Given the description of an element on the screen output the (x, y) to click on. 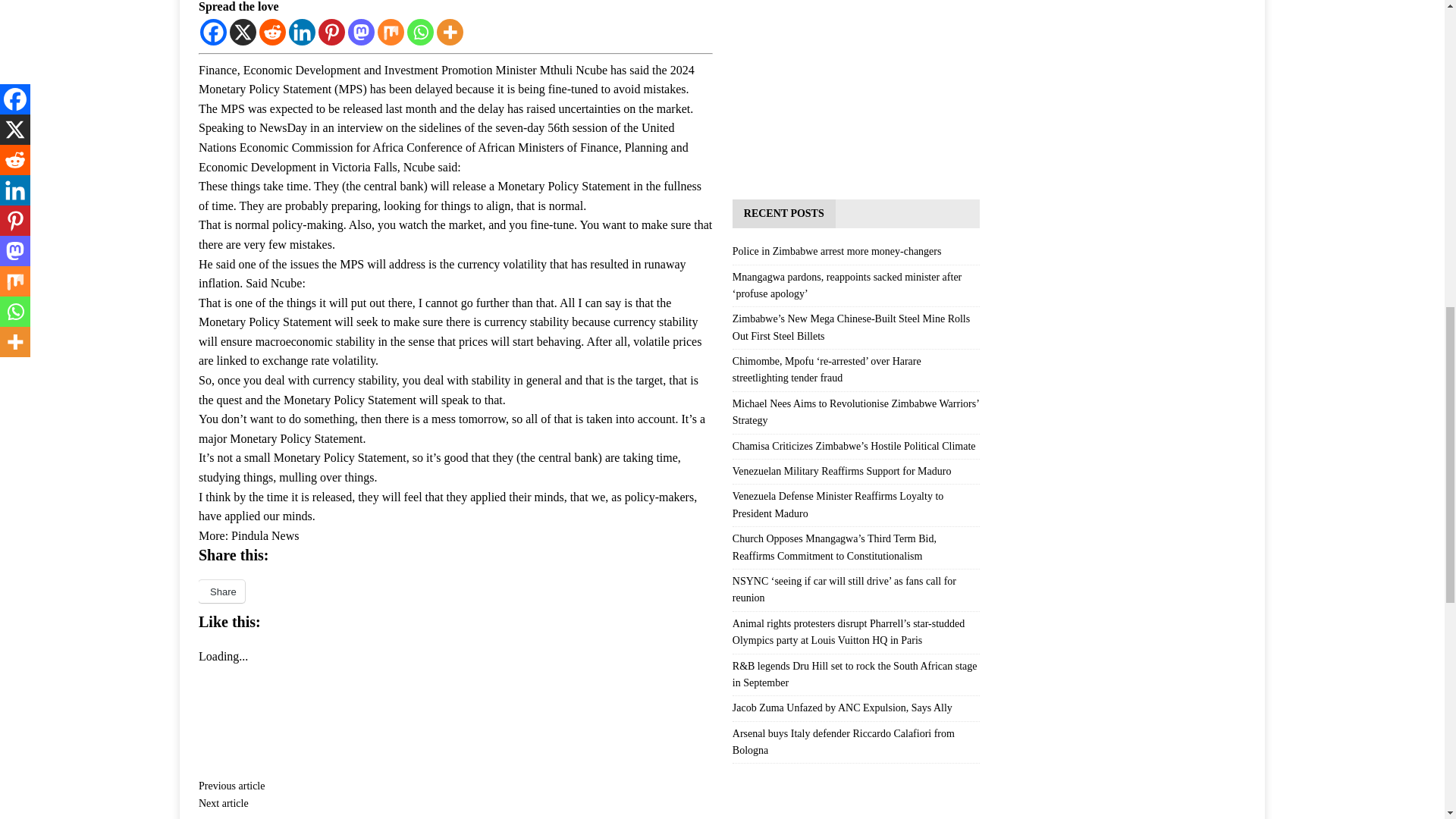
X (243, 31)
Pinterest (331, 31)
Mix (390, 31)
Facebook (213, 31)
Linkedin (301, 31)
Whatsapp (420, 31)
Reddit (272, 31)
Mastodon (360, 31)
